Given the description of an element on the screen output the (x, y) to click on. 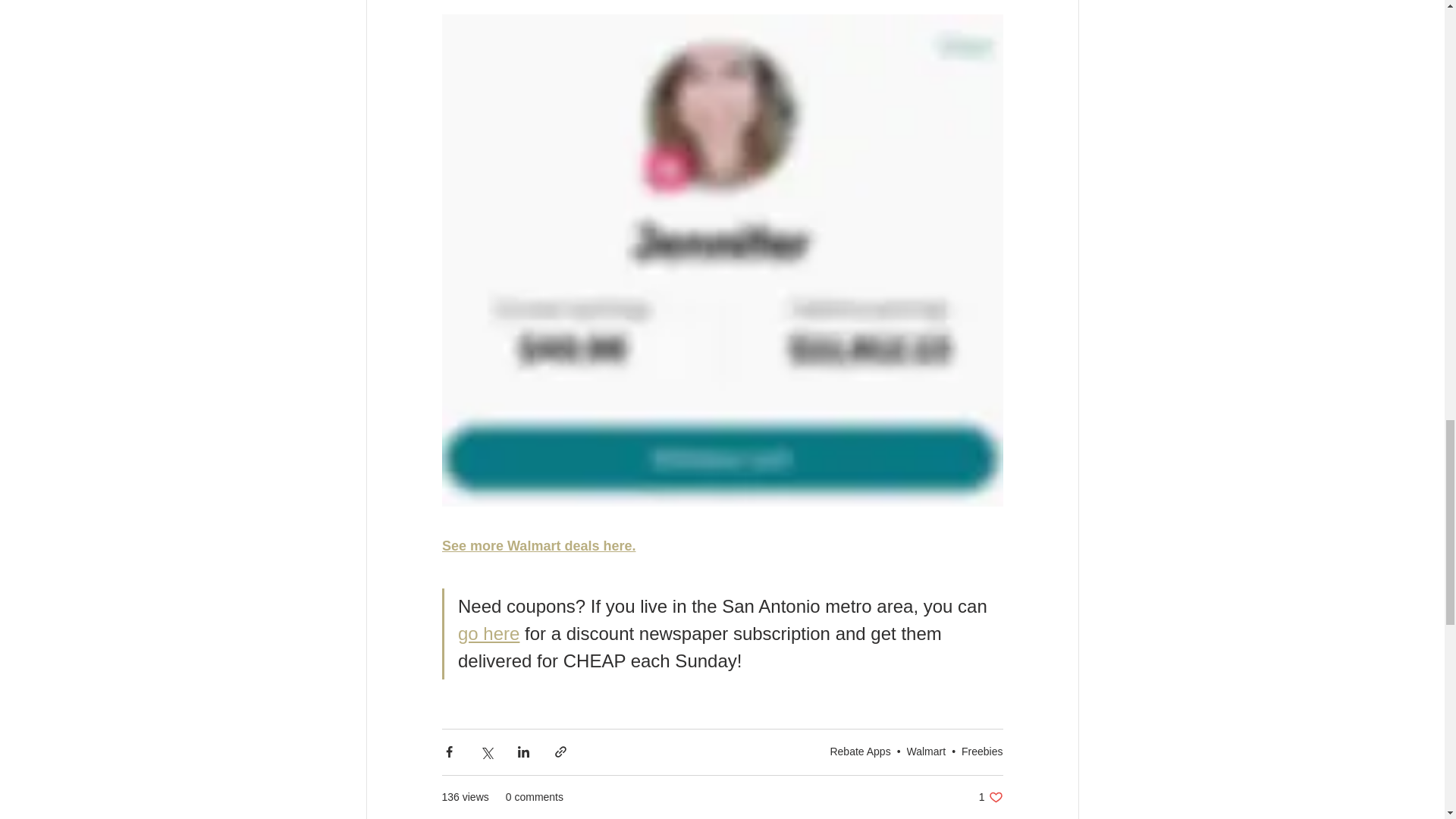
Walmart (926, 751)
go here (990, 797)
Rebate Apps (488, 633)
Freebies (859, 751)
See more Walmart deals here. (981, 751)
